Given the description of an element on the screen output the (x, y) to click on. 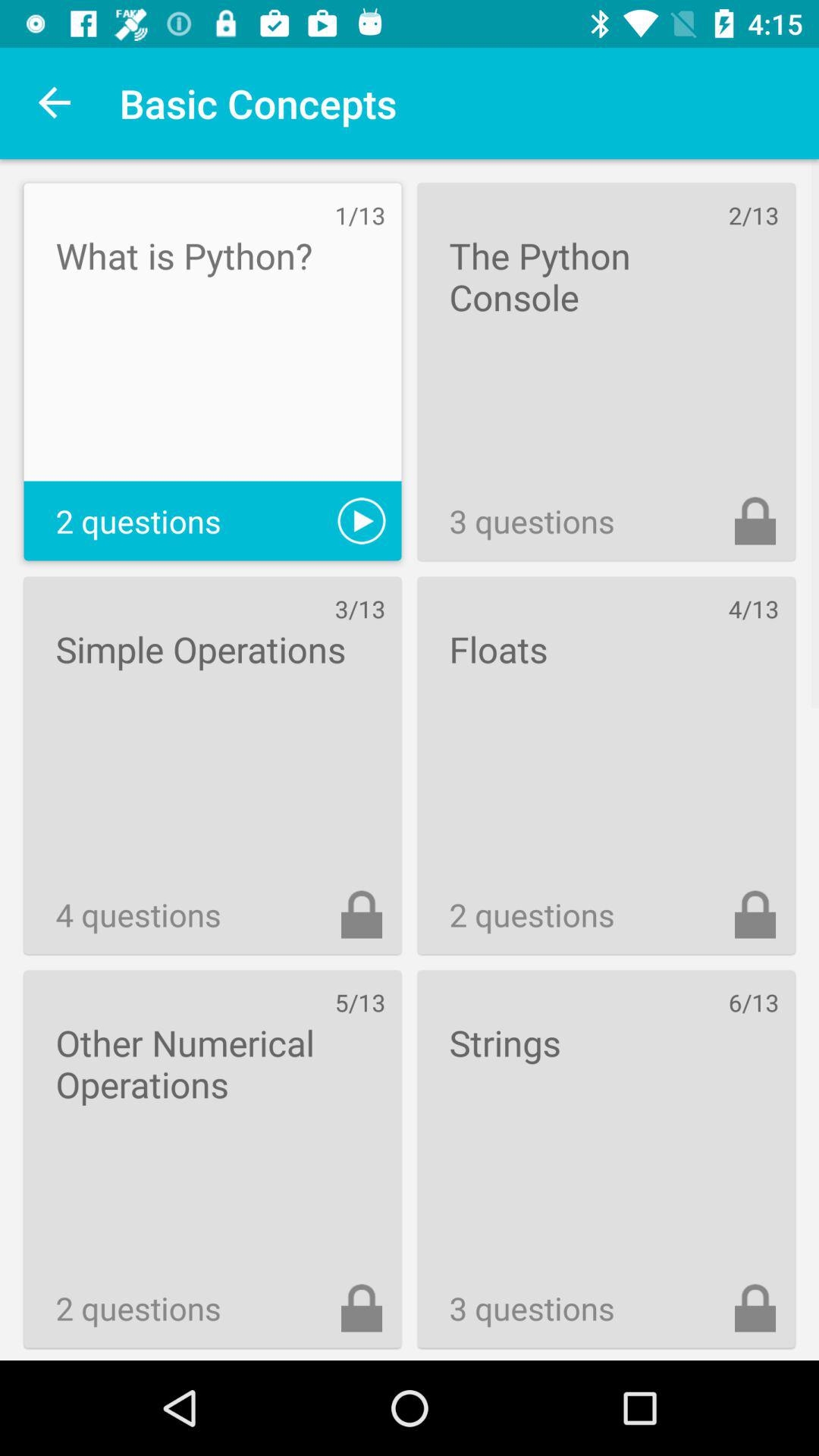
turn on item above what is python? item (55, 103)
